Given the description of an element on the screen output the (x, y) to click on. 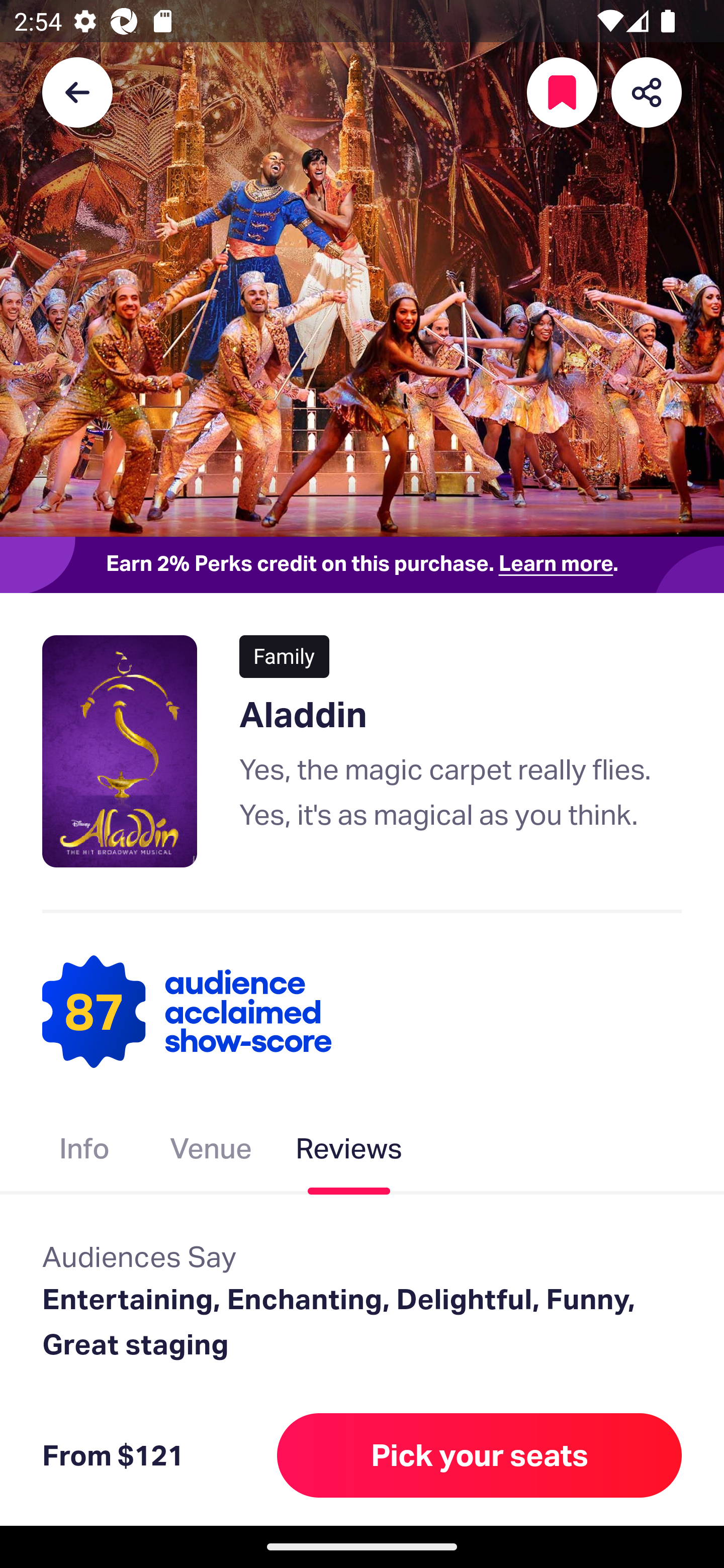
Earn 2% Perks credit on this purchase. Learn more. (362, 564)
Info (83, 1152)
Venue (210, 1152)
Pick your seats (479, 1454)
